Given the description of an element on the screen output the (x, y) to click on. 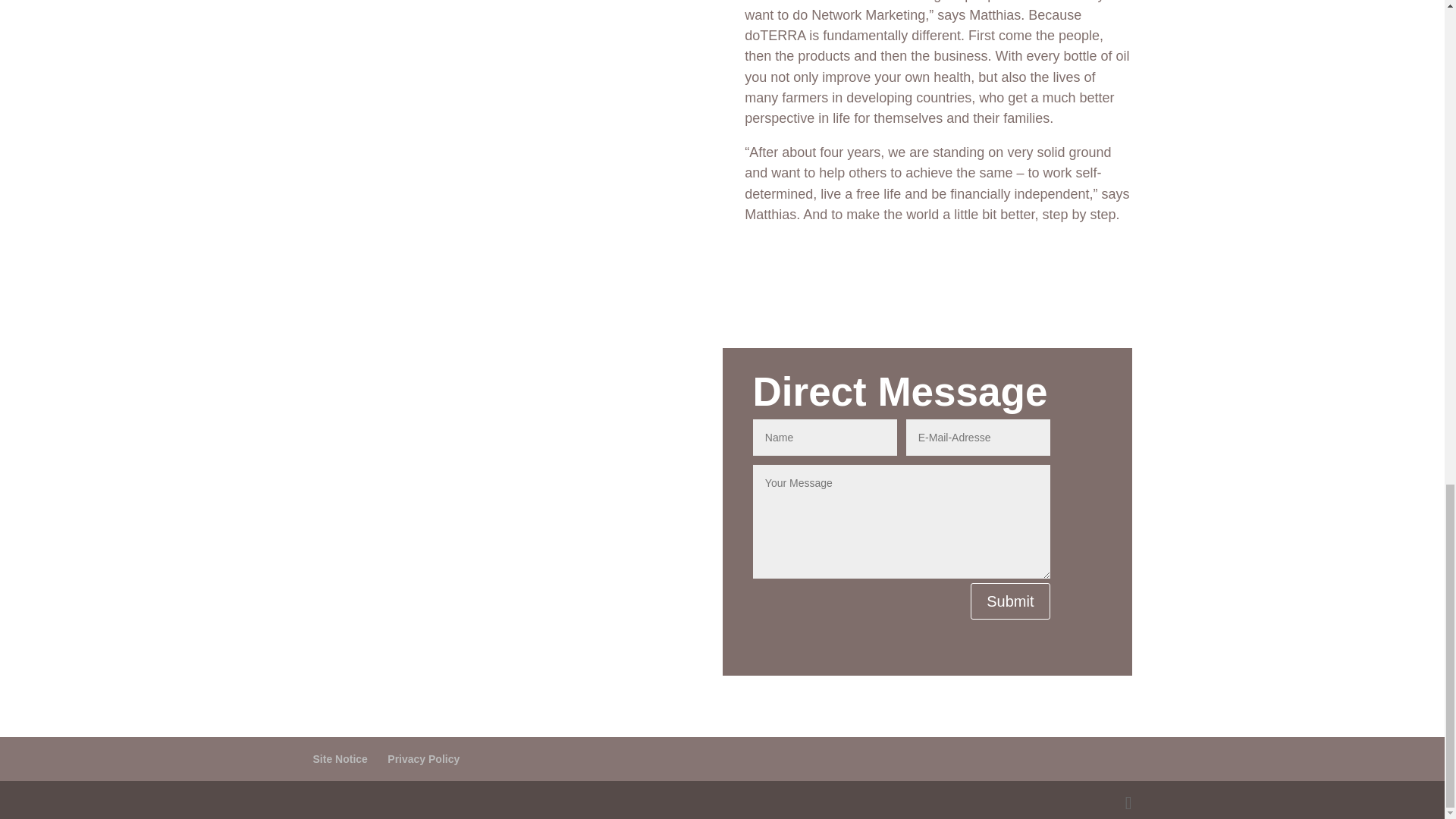
Site Notice (339, 758)
Matthias Quaritsch Dufte Welt 2 (505, 68)
Matthias Quaritsch Dufte Welt DoTERRA Network Marketing (517, 511)
Privacy Policy (423, 758)
Submit (1010, 601)
